Given the description of an element on the screen output the (x, y) to click on. 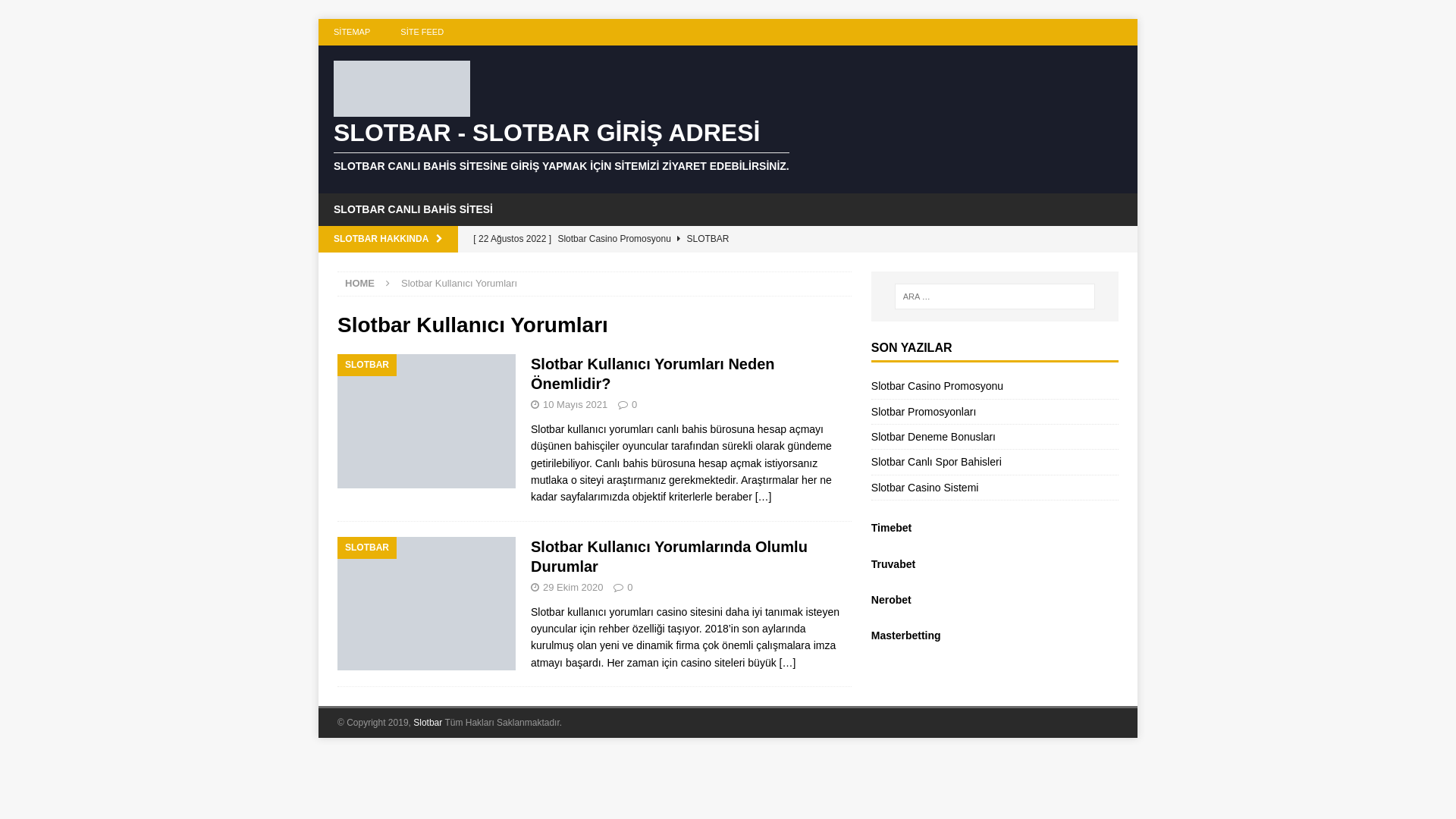
Slotbar Casino Sistemi Element type: text (925, 487)
Nerobet Element type: text (891, 599)
29 Ekim 2020 Element type: text (572, 587)
SITEMAP Element type: text (351, 31)
HOME Element type: text (359, 282)
0 Element type: text (634, 404)
Slotbar Casino Promosyonu Element type: text (937, 385)
Ara Element type: text (56, 11)
0 Element type: text (629, 587)
SITE FEED Element type: text (421, 31)
Masterbetting Element type: text (906, 635)
Truvabet Element type: text (893, 564)
Slotbar Element type: text (427, 722)
Timebet Element type: text (891, 527)
SLOTBAR CANLI BAHIS SITESI Element type: text (413, 209)
